Given the description of an element on the screen output the (x, y) to click on. 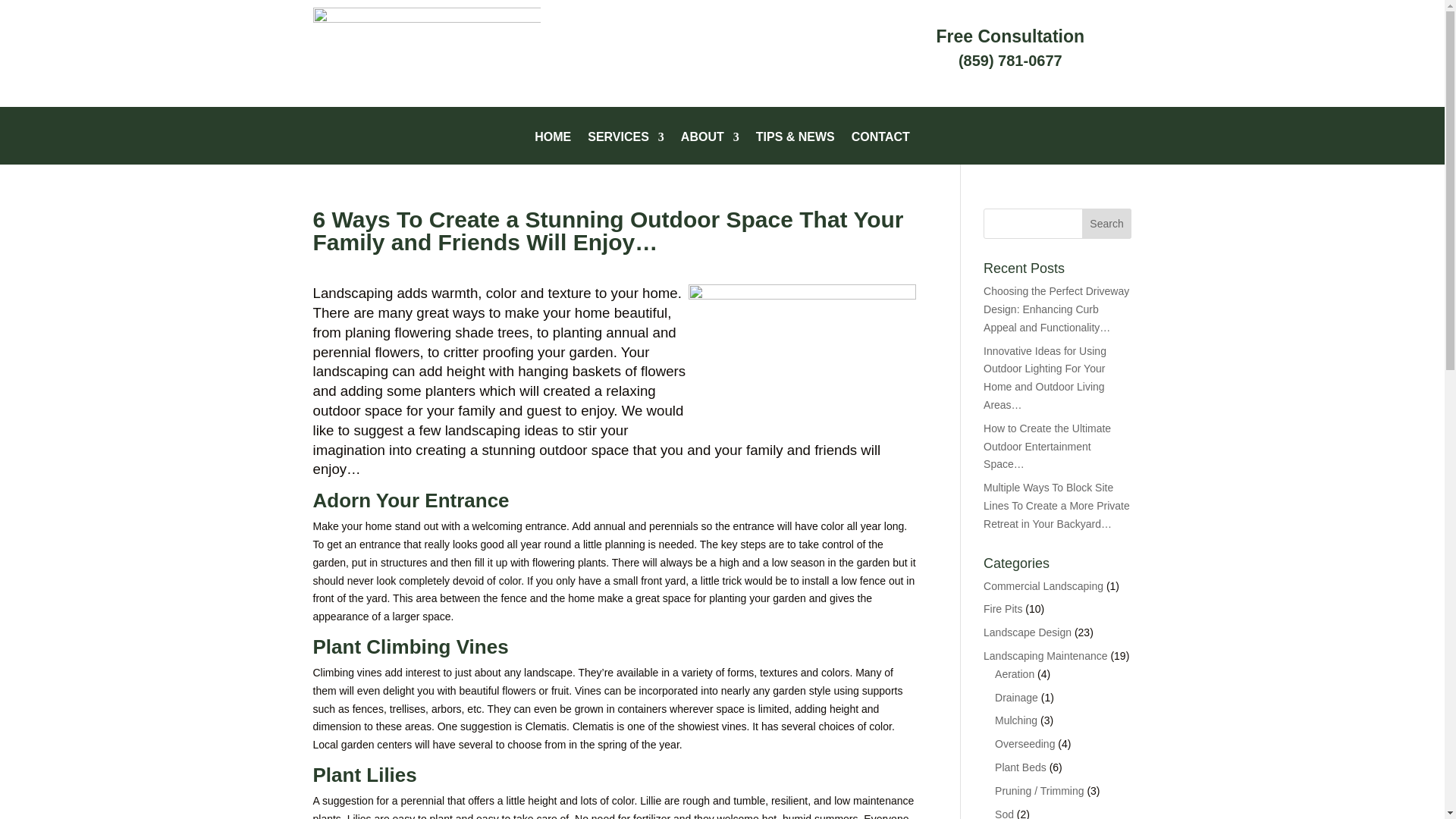
Landscaping Maintenance (1045, 655)
Search (1106, 223)
Free Consultation (1010, 35)
Drainage (1016, 697)
Mulching (1015, 720)
Search (1106, 223)
HOME (552, 147)
Sod (1003, 813)
Davis Landscaping Logo (426, 53)
Commercial Landscaping (1043, 585)
